Given the description of an element on the screen output the (x, y) to click on. 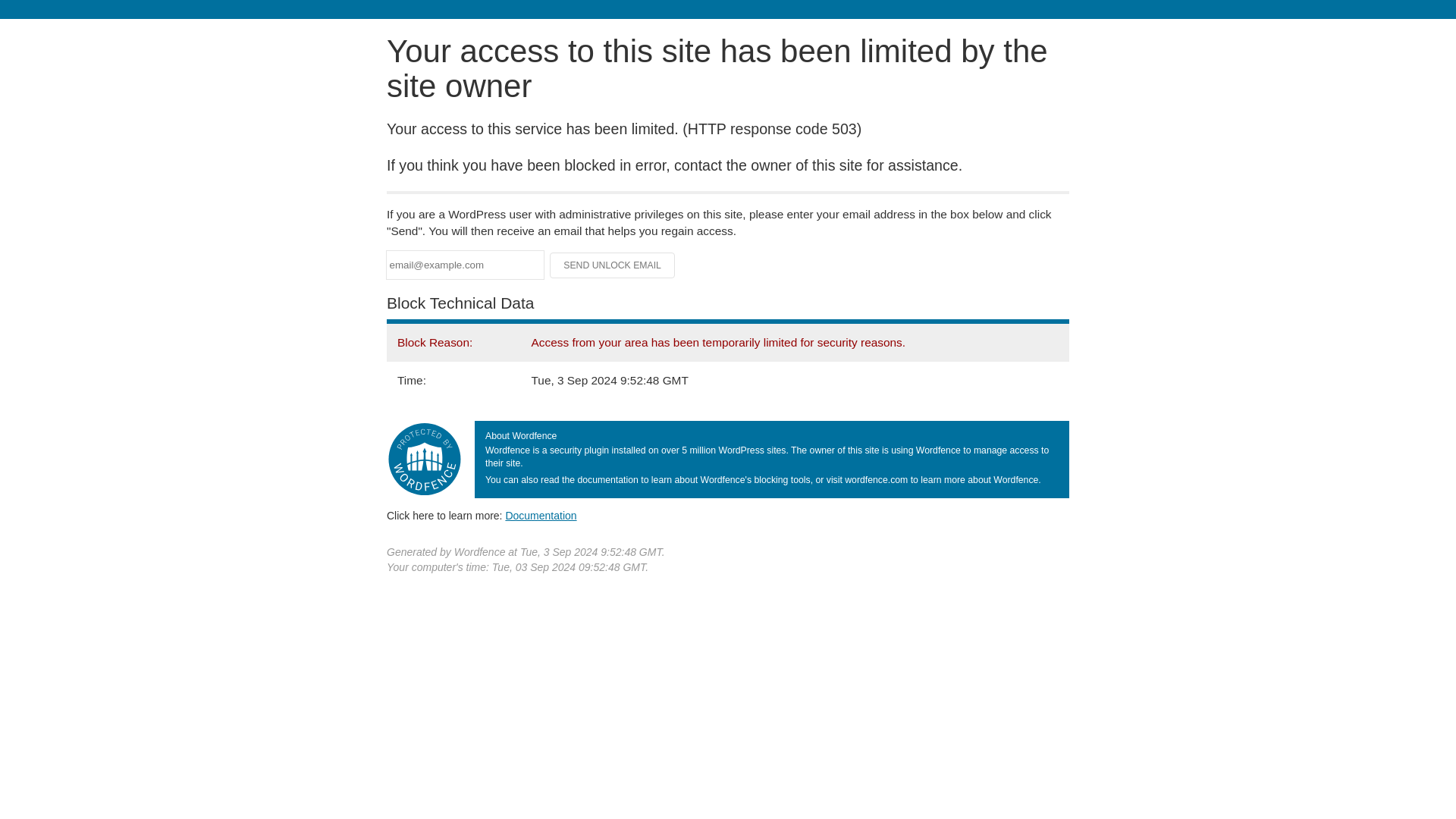
Send Unlock Email (612, 265)
Send Unlock Email (612, 265)
Documentation (540, 515)
